Given the description of an element on the screen output the (x, y) to click on. 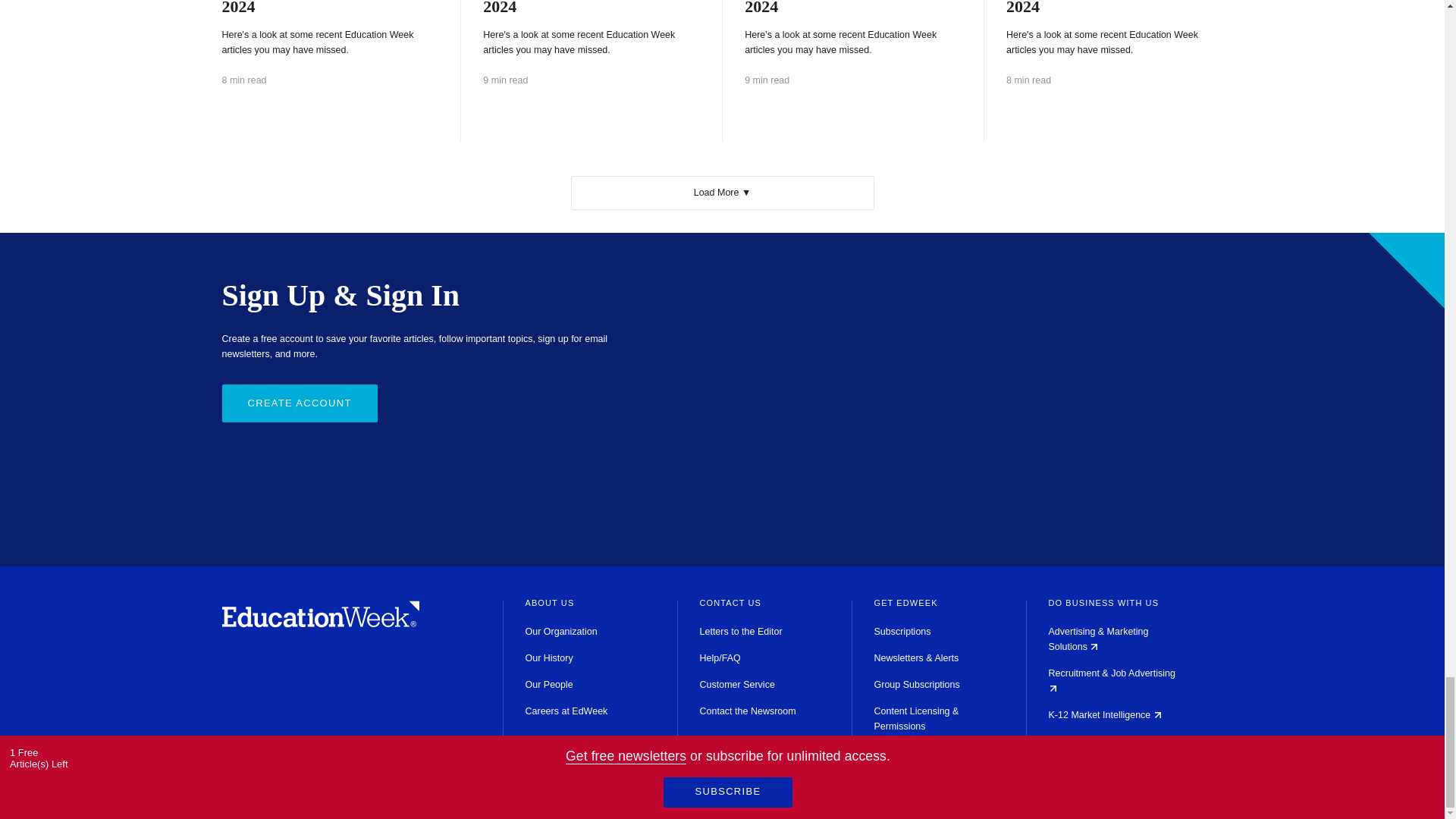
Homepage (320, 623)
